Given the description of an element on the screen output the (x, y) to click on. 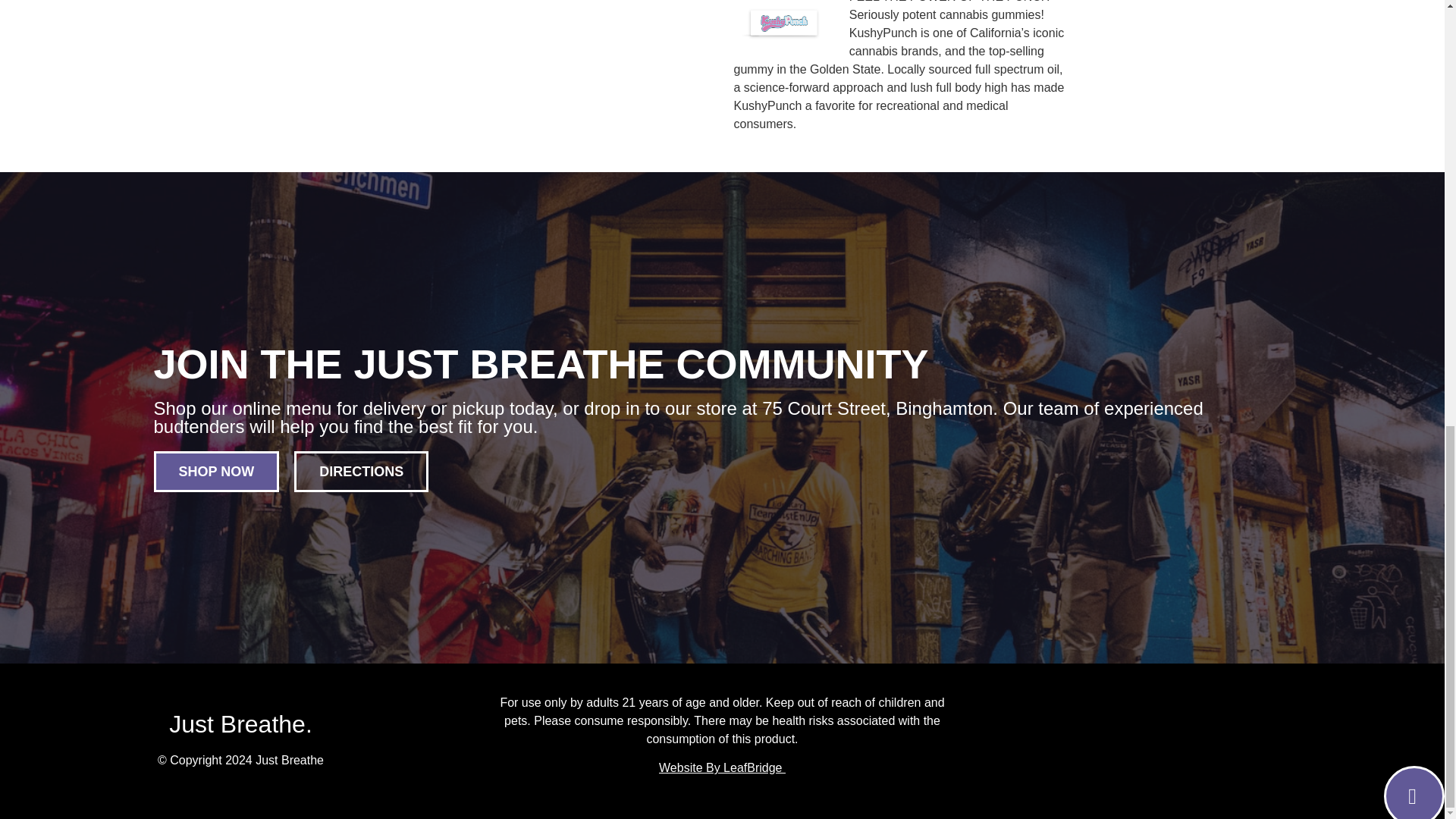
SHOP NOW (215, 471)
DIRECTIONS (361, 471)
Just Breathe. (240, 723)
Website By LeafBridge  (722, 767)
